Given the description of an element on the screen output the (x, y) to click on. 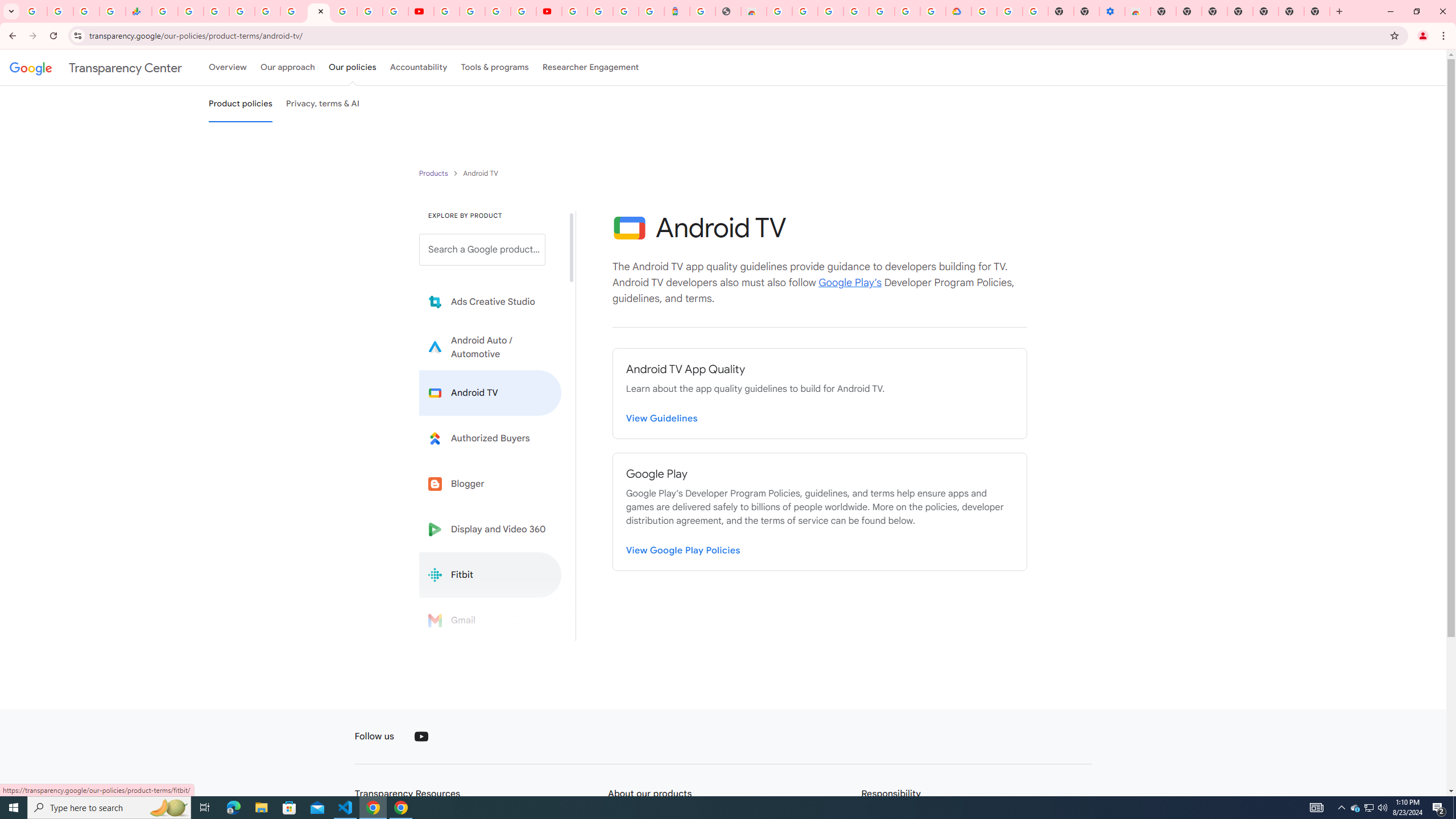
View Google Play Policies (683, 550)
Sign in - Google Accounts (600, 11)
Learn more about Android Auto (490, 347)
Learn more about Android TV (490, 393)
Display and Video 360 (490, 529)
View Guidelines (661, 418)
Learn more about Authorized Buyers (490, 438)
Learn more about Ads Creative Studio (490, 302)
New Tab (1265, 11)
Tools & programs (494, 67)
